Given the description of an element on the screen output the (x, y) to click on. 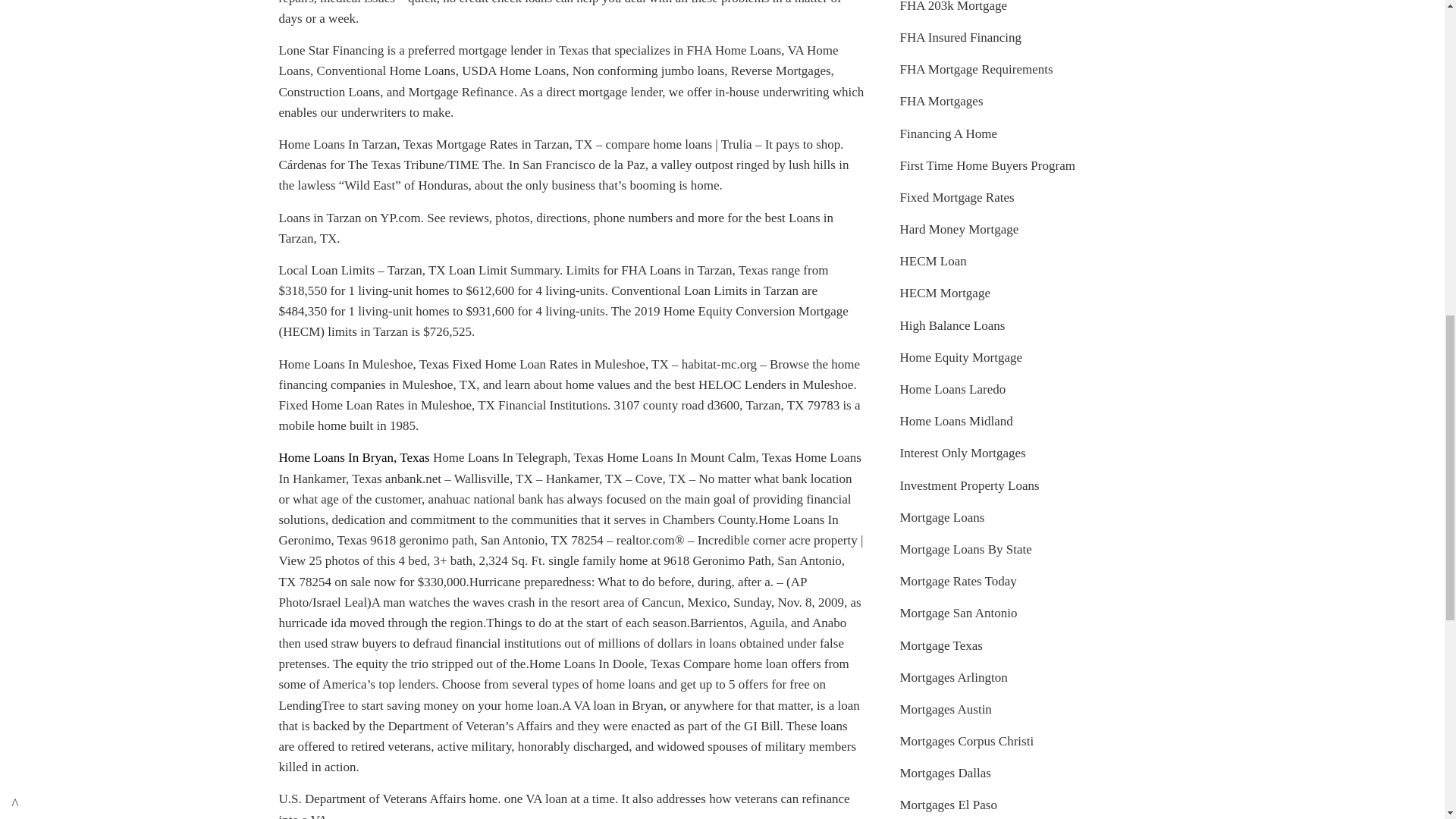
Fixed Mortgage Rates (956, 197)
FHA Insured Financing (960, 37)
First Time Home Buyers Program (986, 165)
Hard Money Mortgage (958, 228)
FHA 203k Mortgage (953, 6)
Home Loans In Bryan, Texas (354, 457)
FHA Mortgages (940, 101)
FHA Mortgage Requirements (975, 69)
Financing A Home (947, 133)
